Given the description of an element on the screen output the (x, y) to click on. 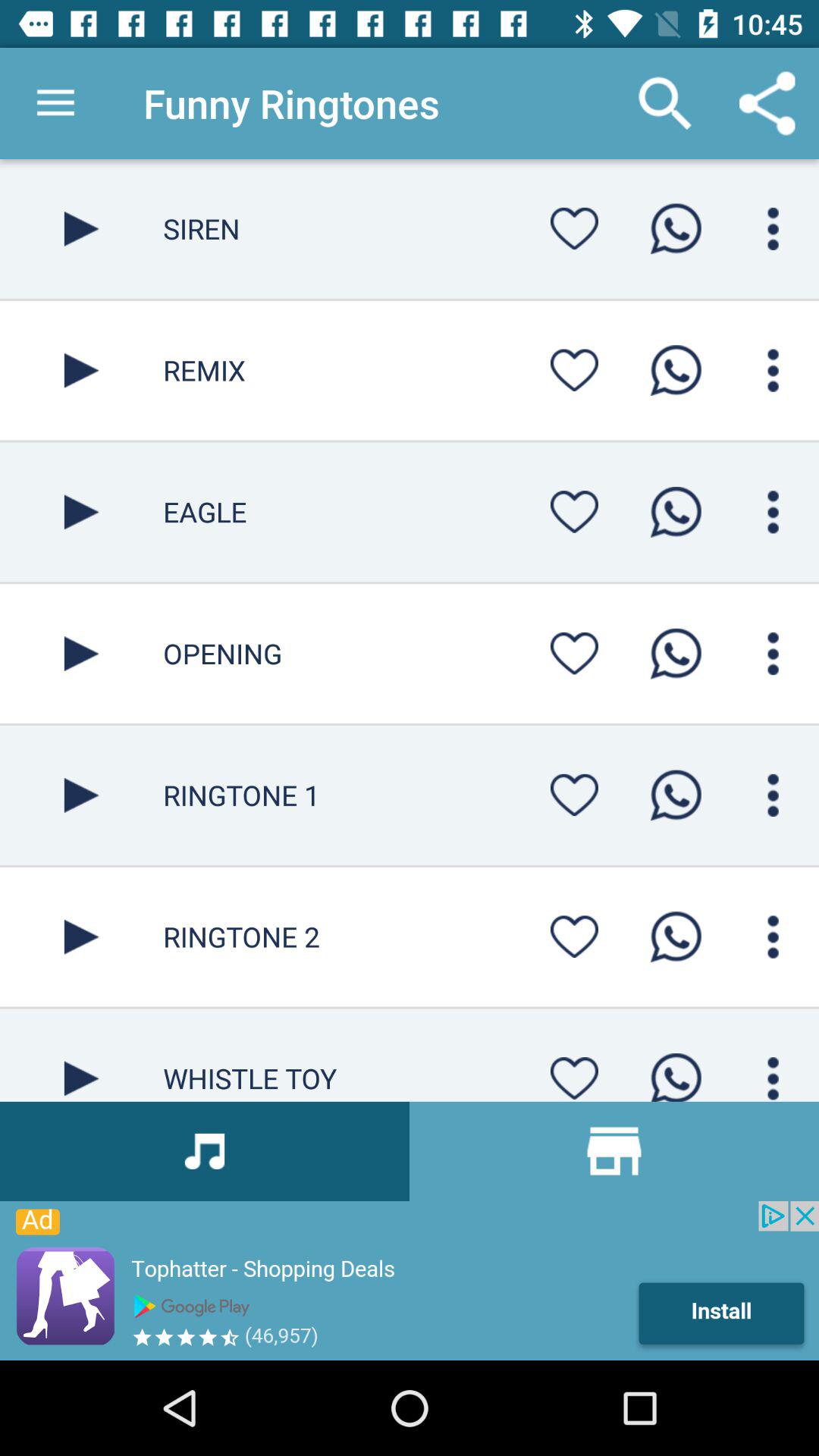
ringstones page (81, 1054)
